Given the description of an element on the screen output the (x, y) to click on. 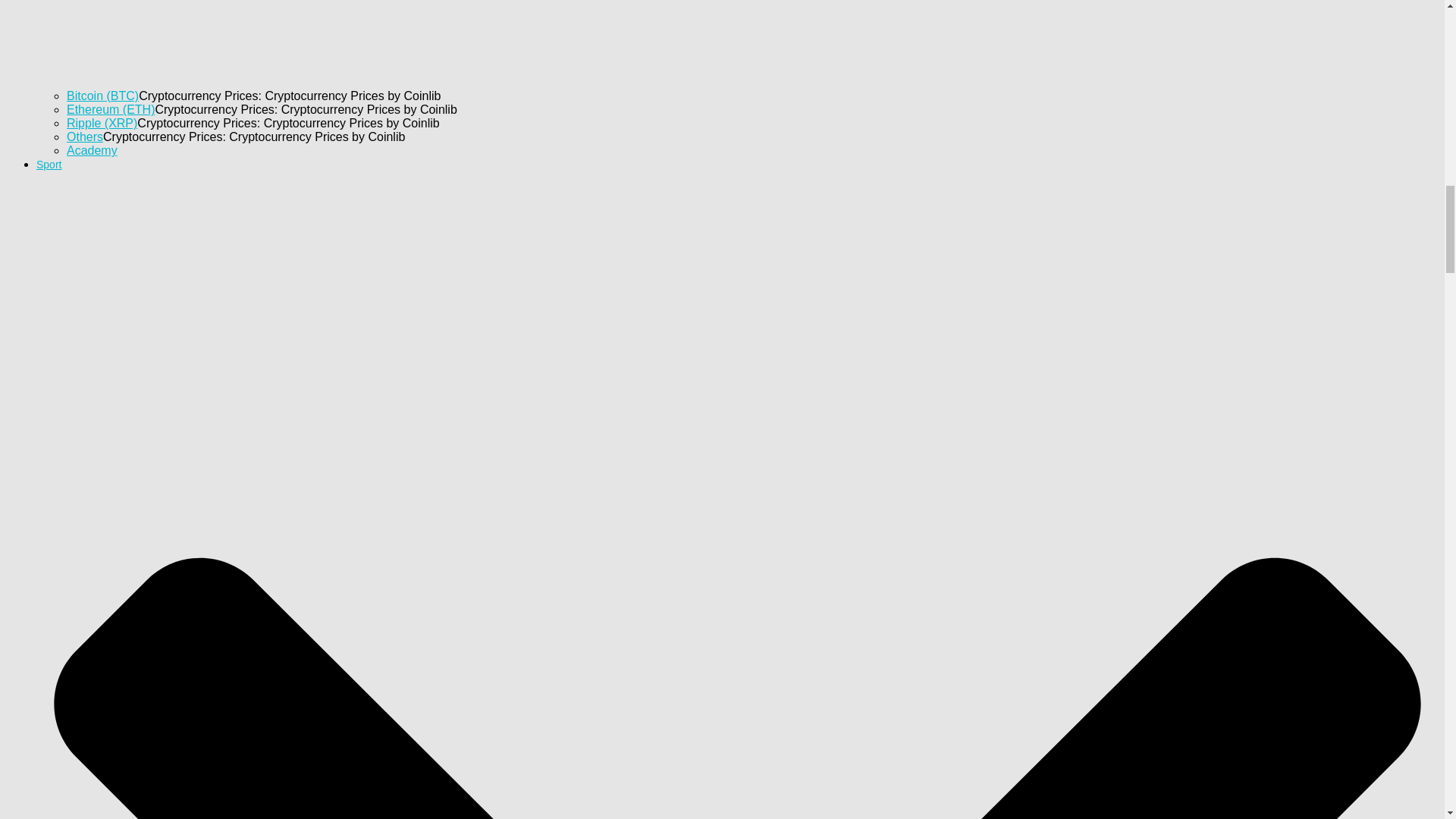
Others (84, 136)
Others (84, 136)
Academy (91, 150)
Academy (91, 150)
